Given the description of an element on the screen output the (x, y) to click on. 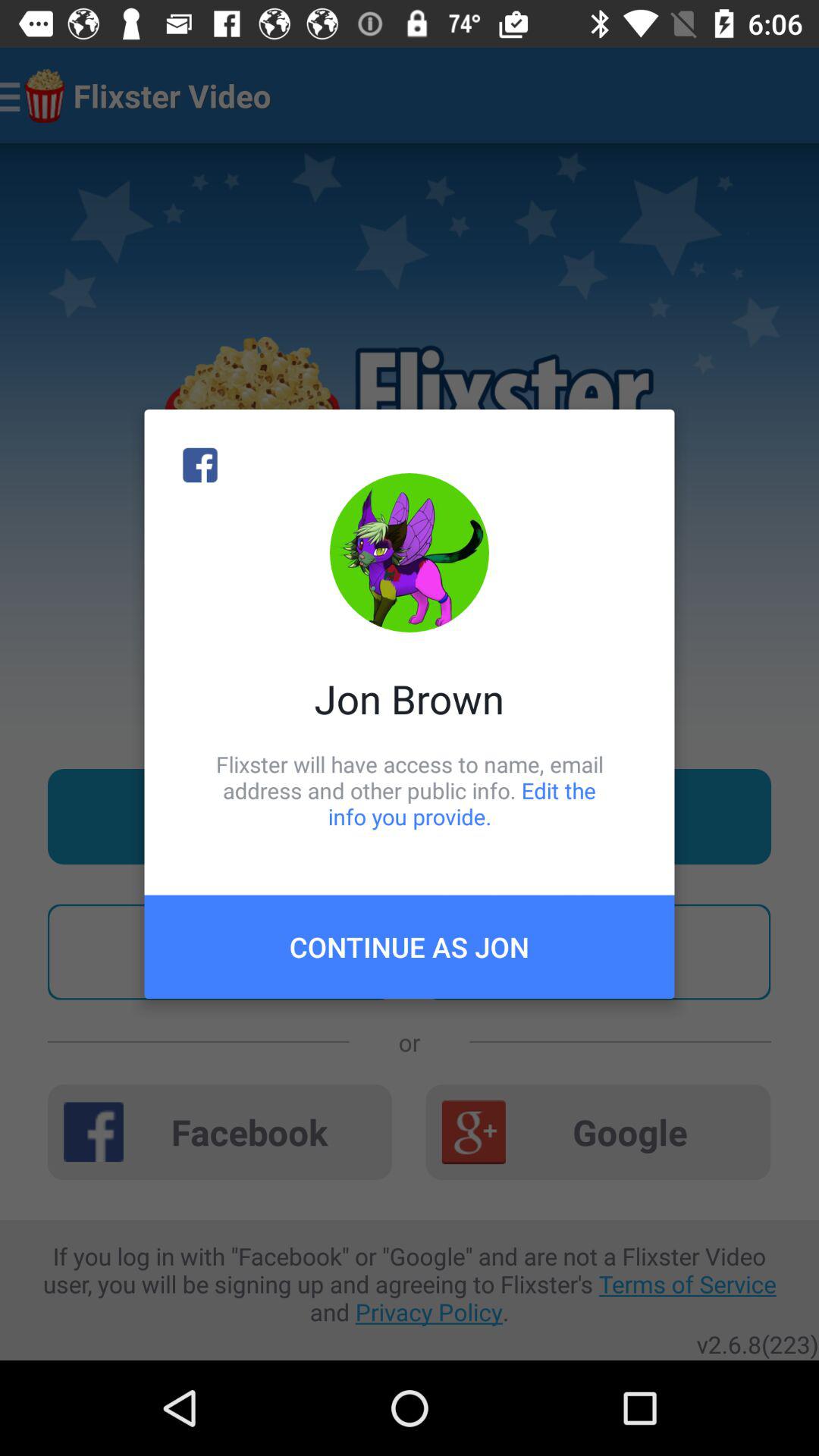
open the item above the continue as jon item (409, 790)
